Given the description of an element on the screen output the (x, y) to click on. 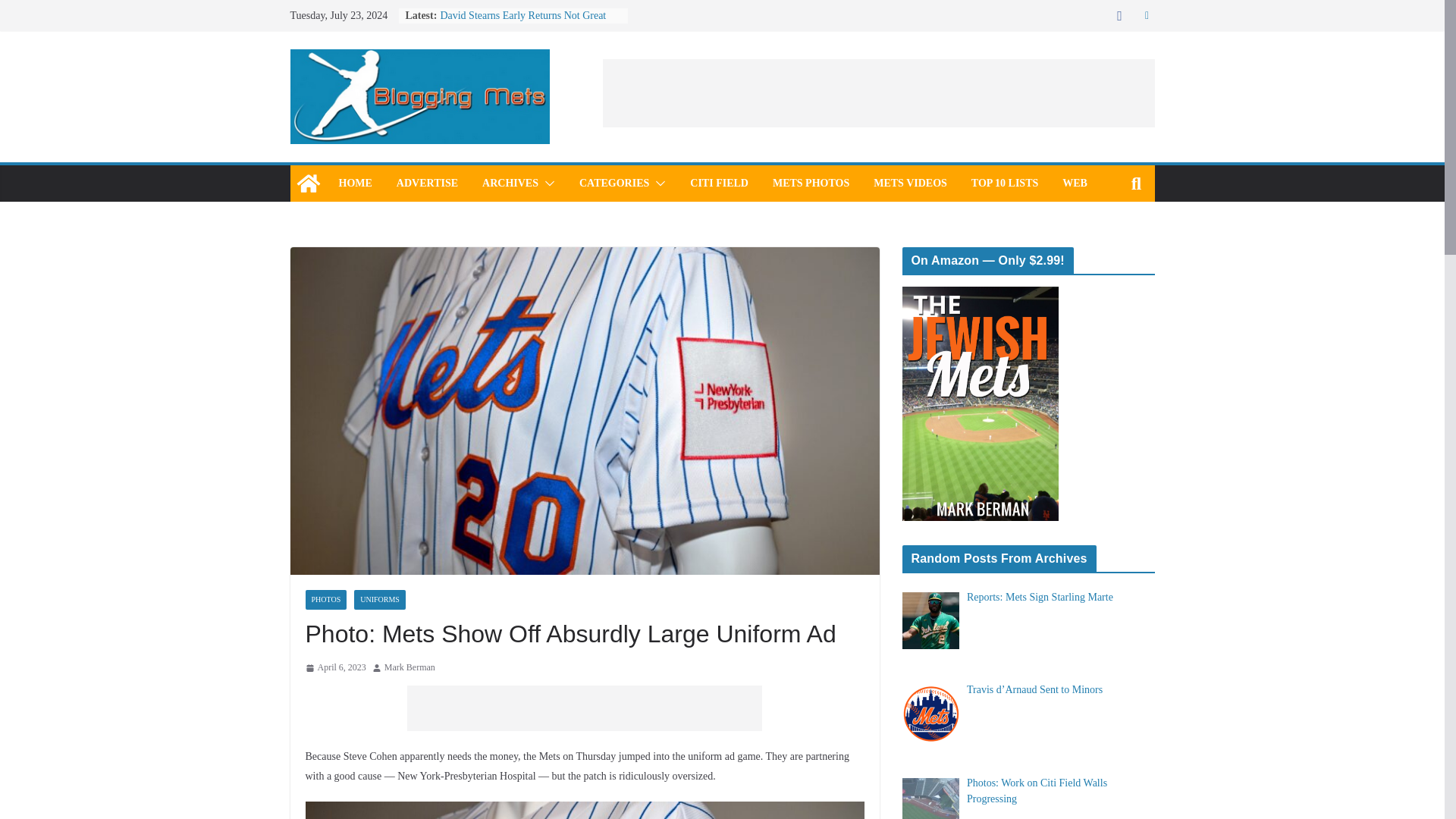
CATEGORIES (614, 183)
Advertisement (584, 708)
8:46 pm (334, 668)
Blogging Mets (307, 183)
Advertisement (878, 92)
HOME (354, 183)
ARCHIVES (509, 183)
David Stearns Early Returns Not Great (522, 15)
Mark Berman (409, 668)
David Stearns Early Returns Not Great (522, 15)
ADVERTISE (427, 183)
